Given the description of an element on the screen output the (x, y) to click on. 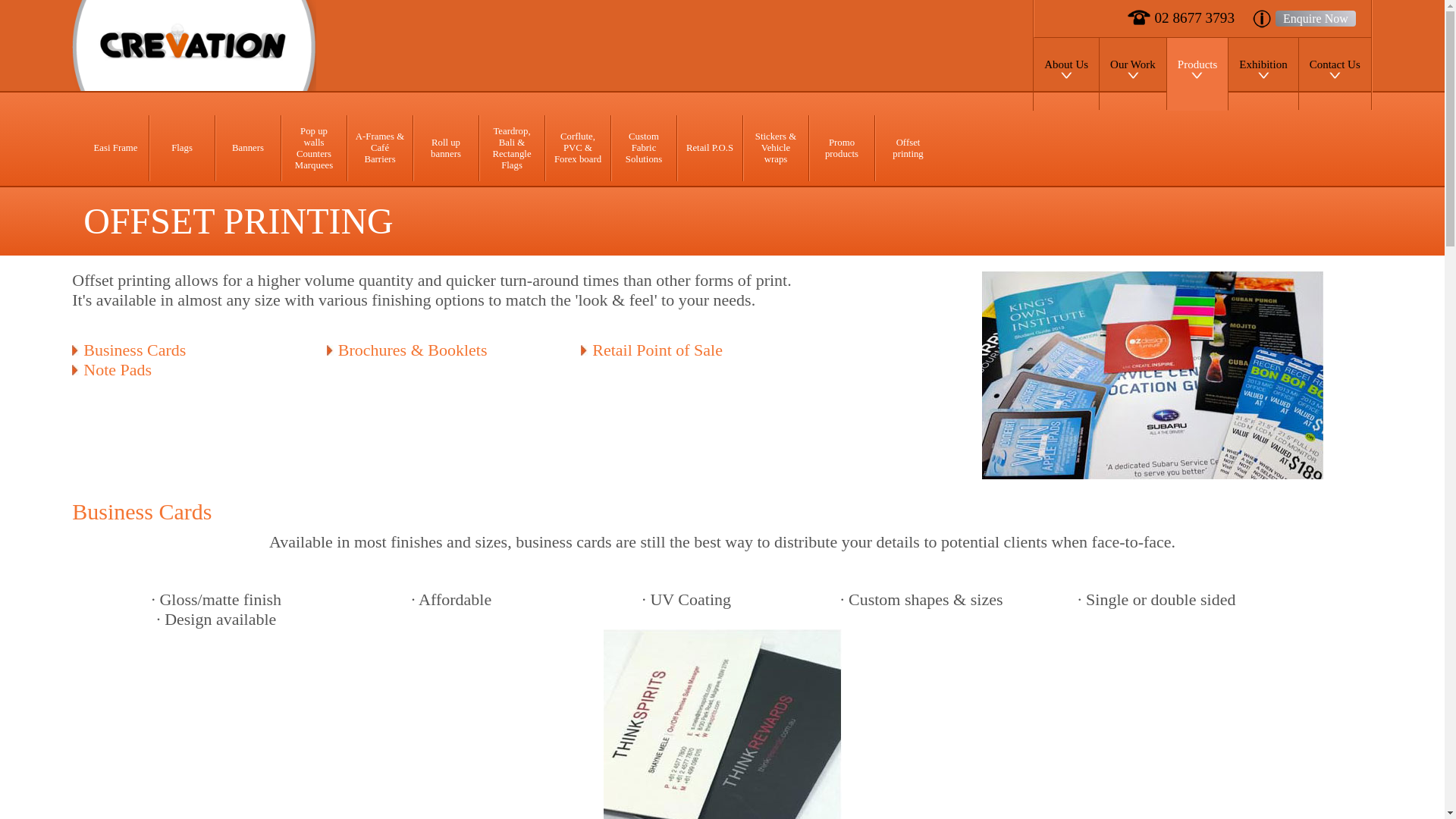
Skip to content Element type: text (1070, 44)
Promo products Element type: text (841, 148)
Retail P.O.S Element type: text (709, 148)
Exhibition Element type: text (1263, 73)
Custom Fabric Solutions Element type: text (644, 148)
Enquire Now Element type: text (1315, 18)
Our Work Element type: text (1133, 73)
Contact Us Element type: text (1335, 73)
Pop up walls Counters Marquees Element type: text (313, 148)
Admart Print Element type: hover (219, 45)
About Us Element type: text (1066, 73)
Flags Element type: text (181, 148)
Roll up banners Element type: text (445, 148)
Corflute, PVC & Forex board Element type: text (577, 148)
Business Cards Element type: text (185, 350)
Easi Frame Element type: text (116, 148)
Retail Point of Sale Element type: text (694, 350)
Note Pads Element type: text (185, 369)
Brochures & Booklets Element type: text (440, 350)
Stickers & Vehicle wraps Element type: text (776, 148)
02 8677 3793 Element type: text (1180, 17)
Banners Element type: text (248, 148)
Teardrop, Bali & Rectangle Flags Element type: text (512, 148)
Products Element type: text (1198, 73)
Offset printing Element type: text (908, 148)
